Given the description of an element on the screen output the (x, y) to click on. 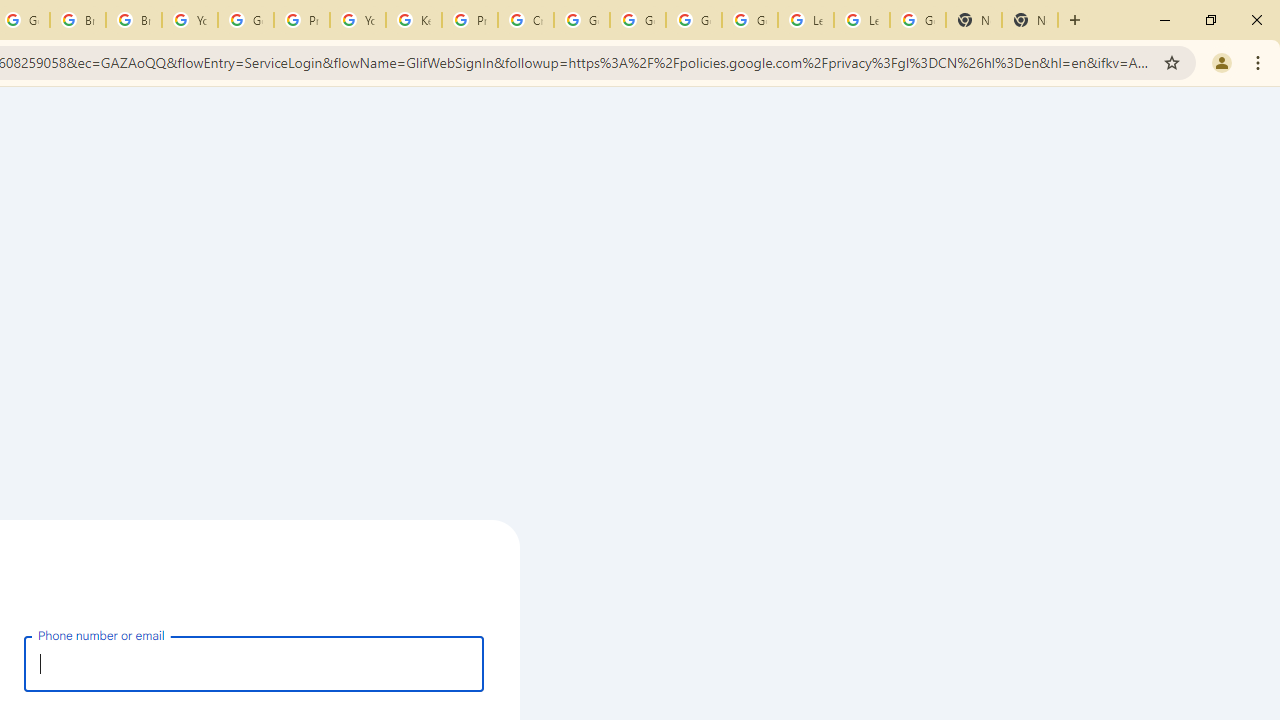
YouTube (358, 20)
Create your Google Account (525, 20)
Google Account Help (582, 20)
Brand Resource Center (77, 20)
Google Account Help (245, 20)
Google Account Help (693, 20)
Phone number or email (253, 663)
Google Account (917, 20)
Google Account Help (749, 20)
